Given the description of an element on the screen output the (x, y) to click on. 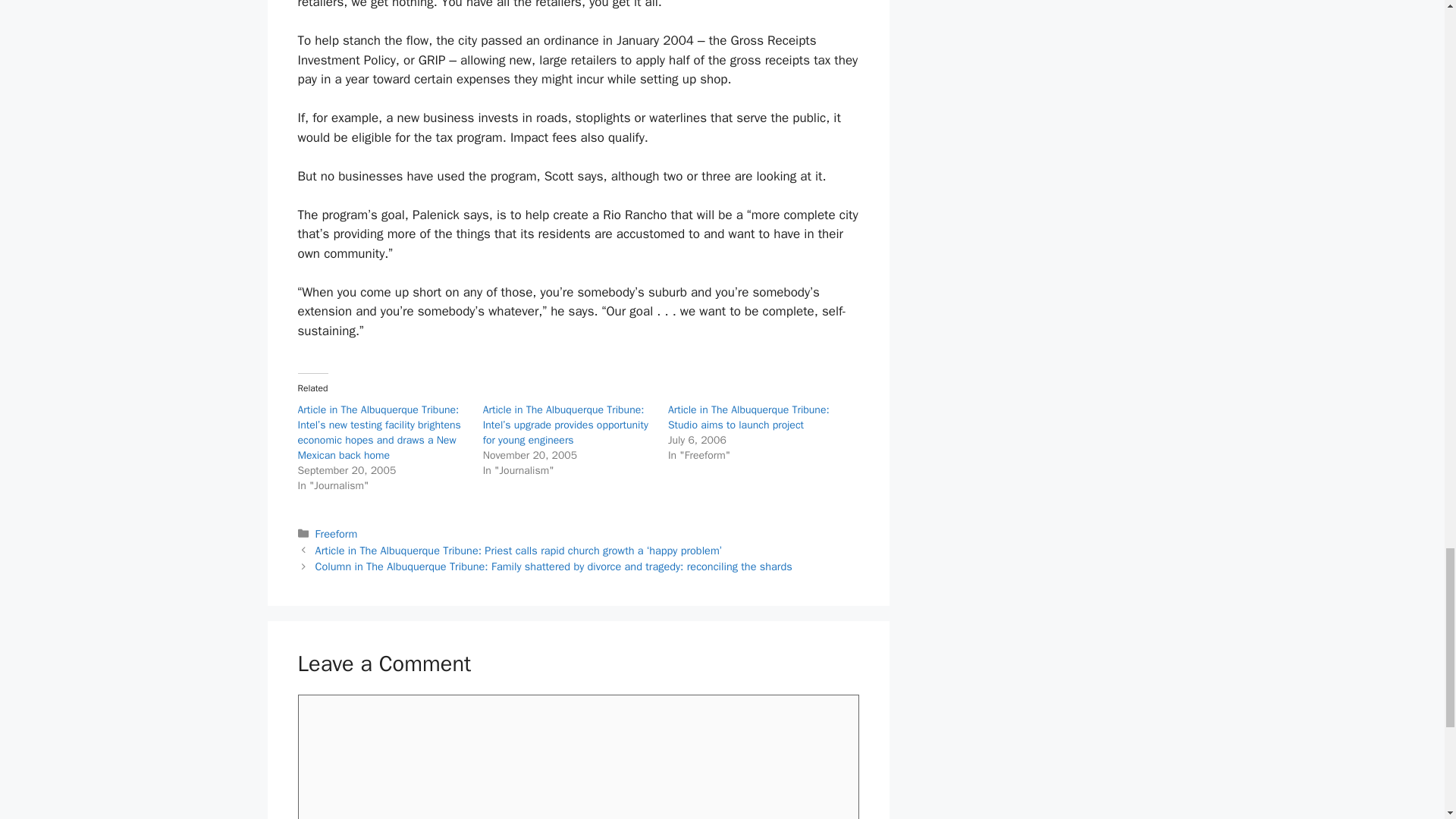
Freeform (336, 533)
